Given the description of an element on the screen output the (x, y) to click on. 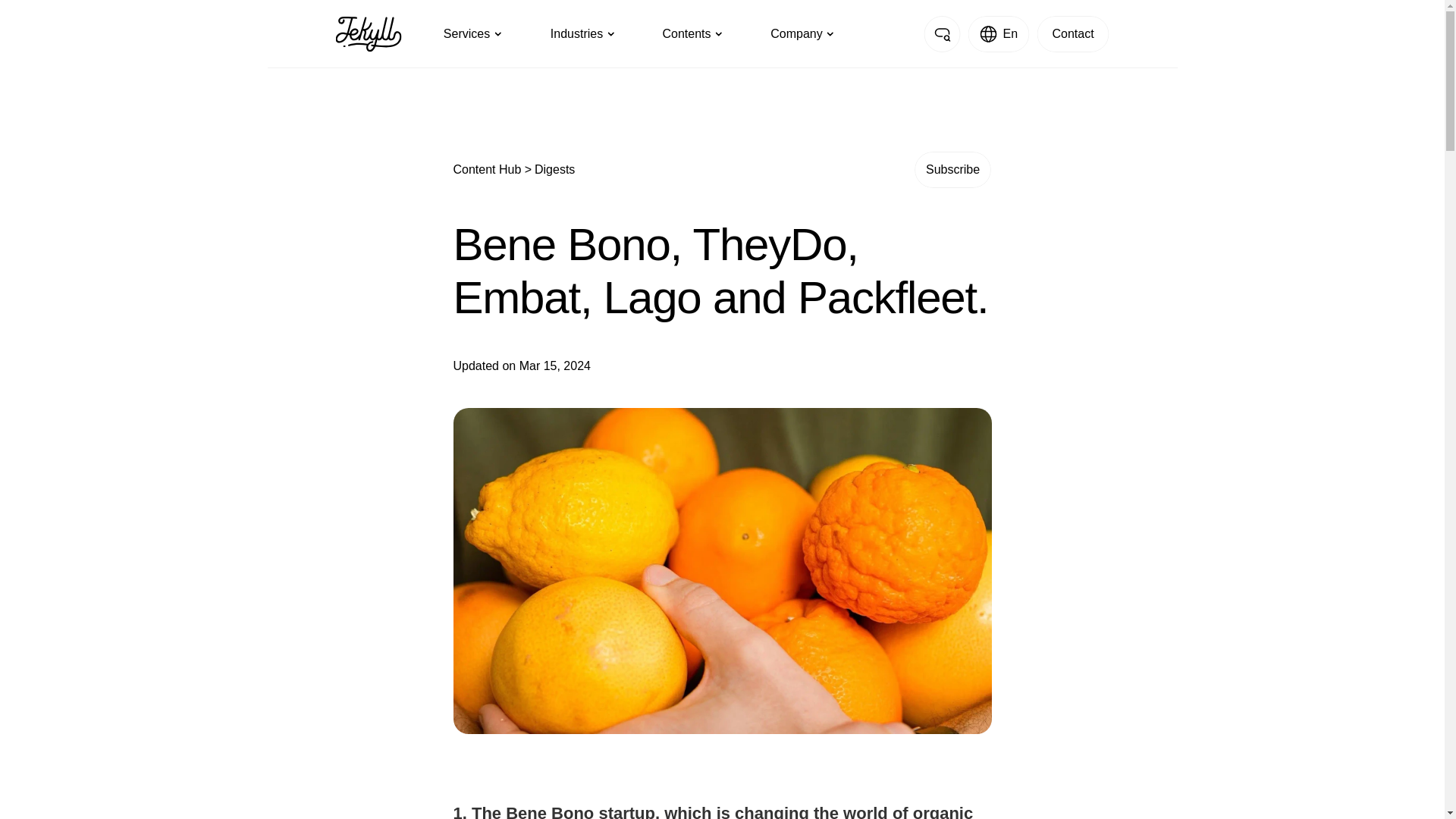
Content Hub  (488, 169)
Digests (554, 169)
